Given the description of an element on the screen output the (x, y) to click on. 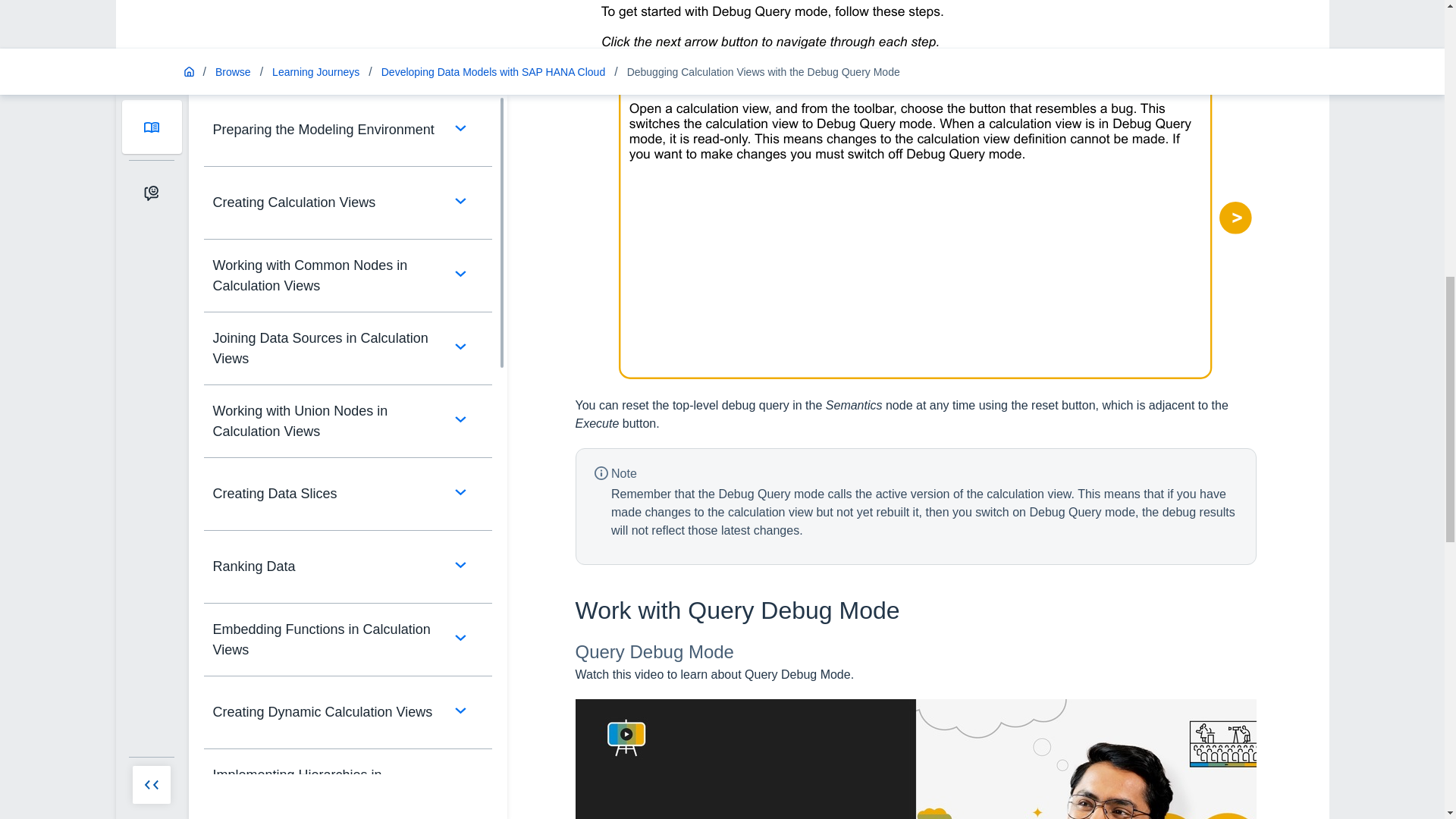
Quiz (351, 336)
